Given the description of an element on the screen output the (x, y) to click on. 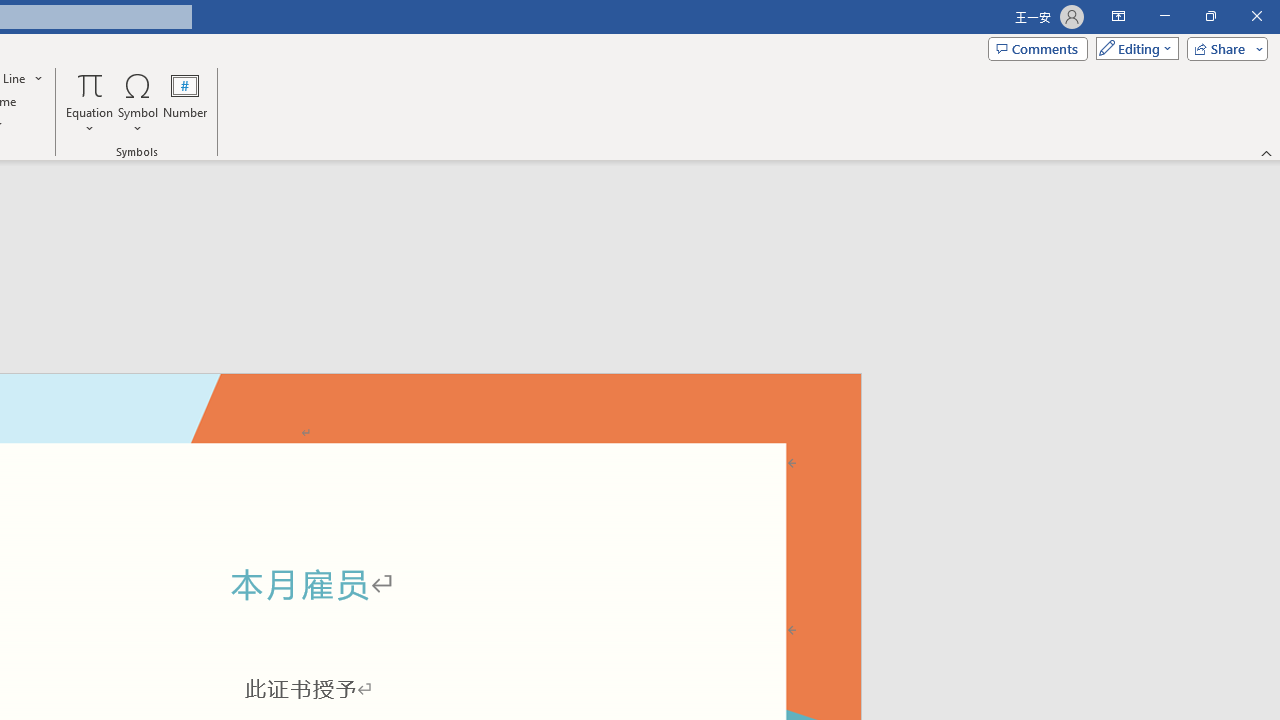
Equation (90, 84)
Number... (185, 102)
Symbol (138, 102)
Equation (90, 102)
